Given the description of an element on the screen output the (x, y) to click on. 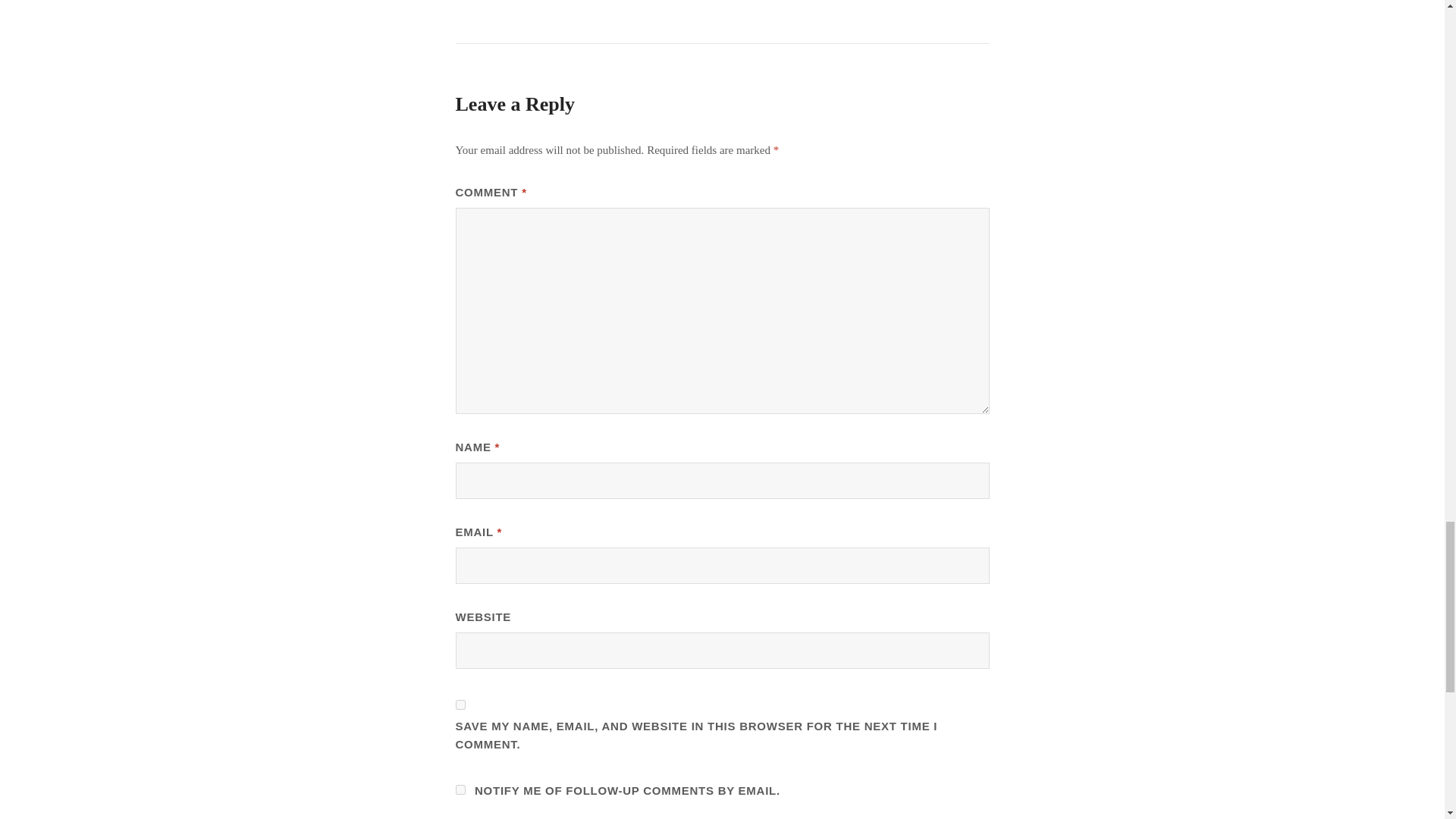
yes (459, 705)
subscribe (459, 789)
